Given the description of an element on the screen output the (x, y) to click on. 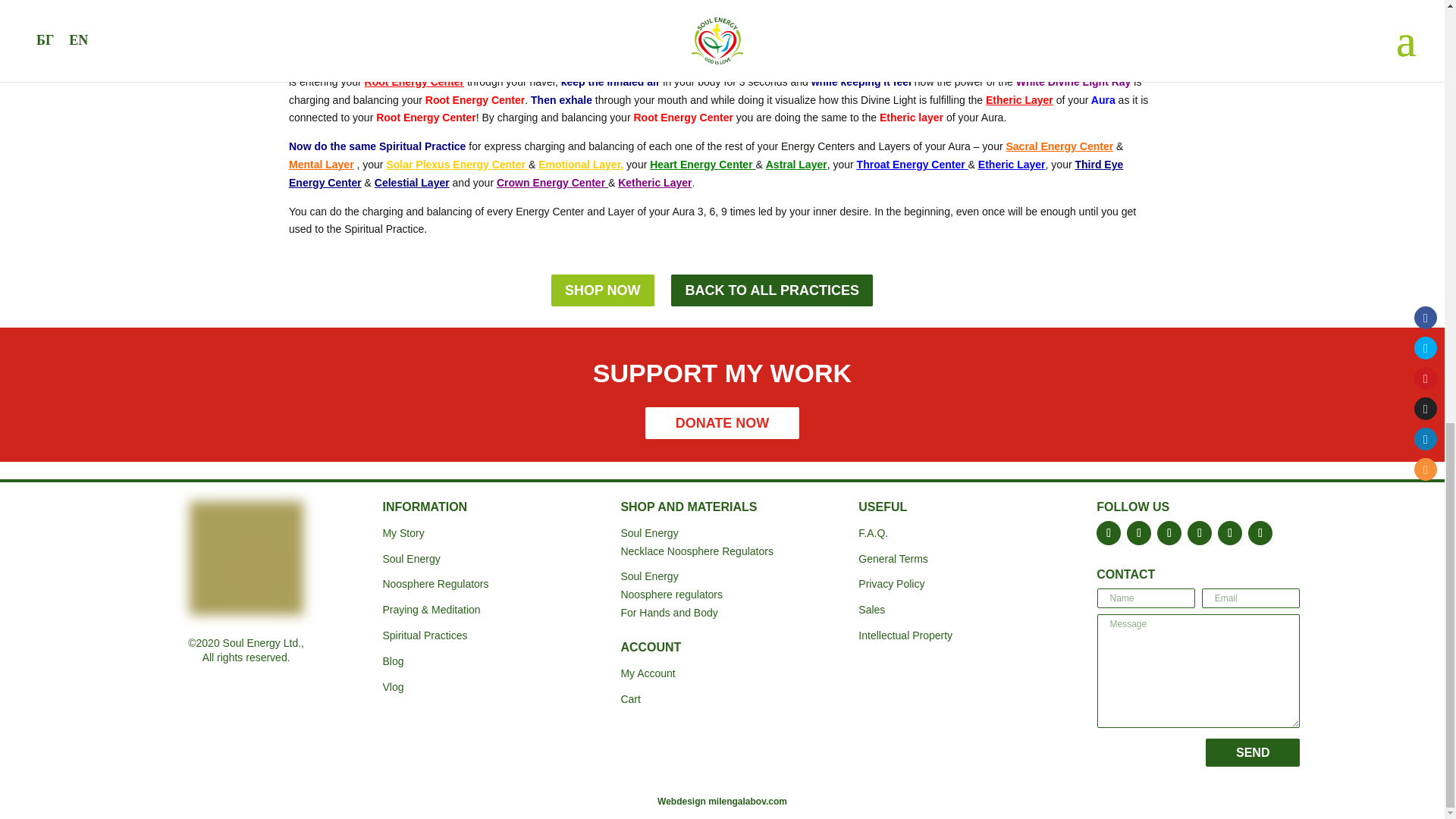
Crown Energy Center (552, 182)
Celestial Layer (411, 182)
Etheric Layer (1011, 164)
Astral Layer (796, 164)
Follow on Facebook (1108, 532)
Throat Energy Center (912, 164)
SHOP NOW (602, 289)
Third Eye Energy Center (705, 173)
Follow on X (1138, 532)
Ketheric Layer. (655, 182)
Heart Energy Center (702, 164)
BACK TO ALL PRACTICES (771, 289)
Follow on LinkedIn (1229, 532)
Follow on TikTok (1259, 532)
Etheric Layer (1018, 100)
